Given the description of an element on the screen output the (x, y) to click on. 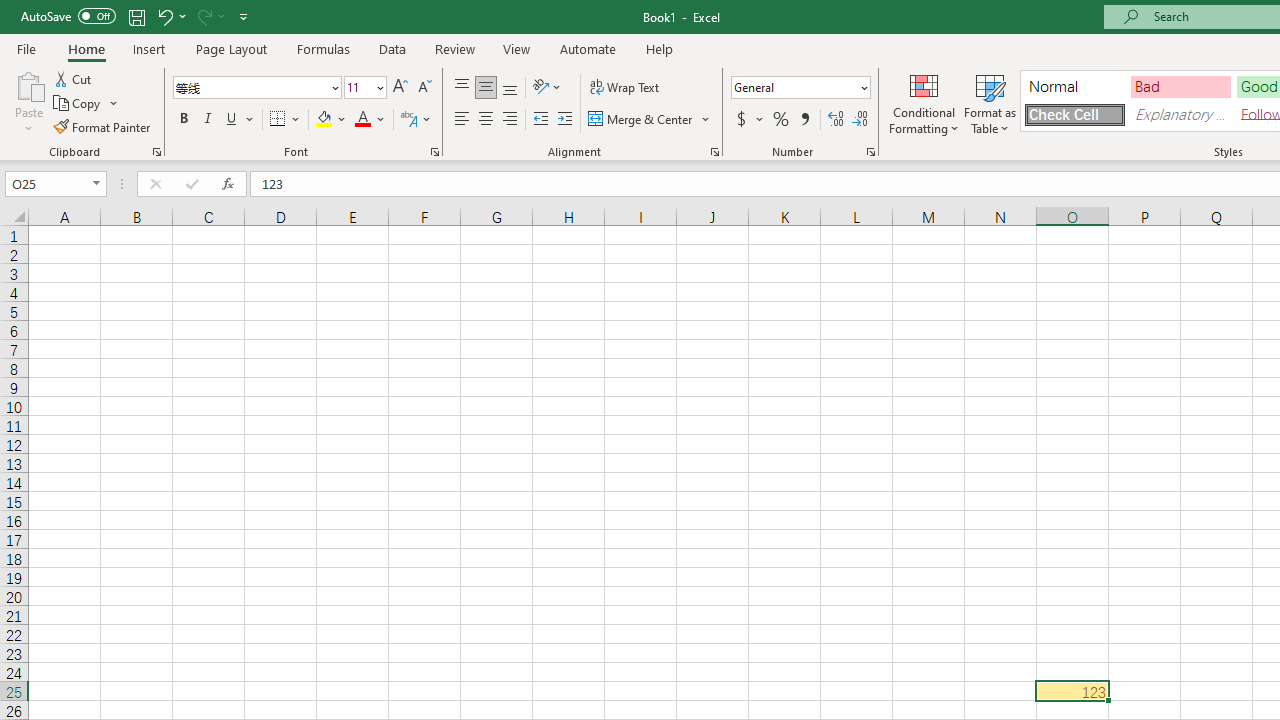
Home (86, 48)
Increase Indent (565, 119)
Underline (232, 119)
Top Align (461, 87)
Number Format (794, 87)
Show Phonetic Field (416, 119)
Decrease Decimal (859, 119)
Format Cell Alignment (714, 151)
Font (250, 87)
Fill Color (331, 119)
Font Color RGB(255, 0, 0) (362, 119)
Decrease Font Size (424, 87)
Formulas (323, 48)
Middle Align (485, 87)
Underline (239, 119)
